Given the description of an element on the screen output the (x, y) to click on. 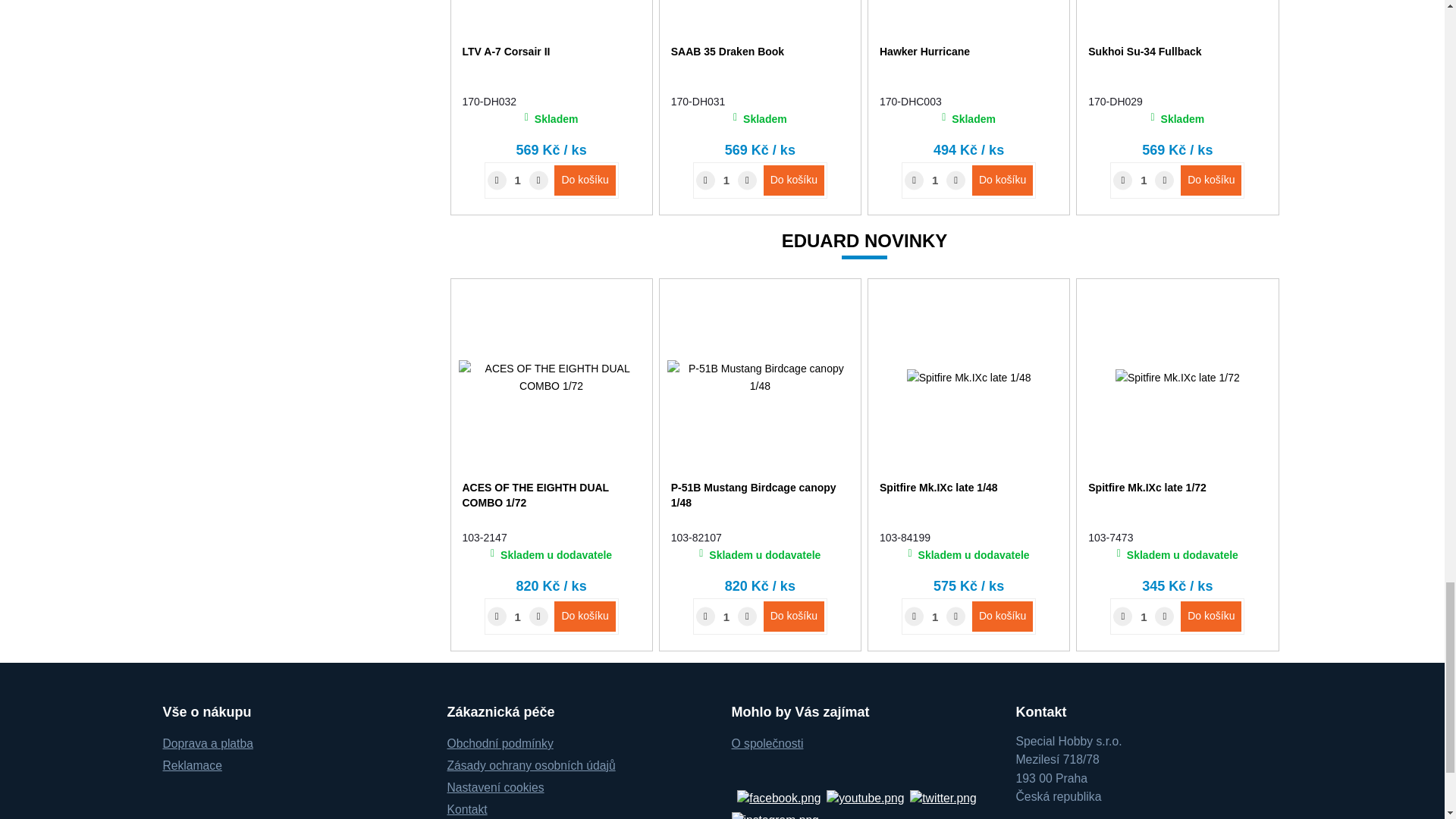
Facebook (778, 797)
